Given the description of an element on the screen output the (x, y) to click on. 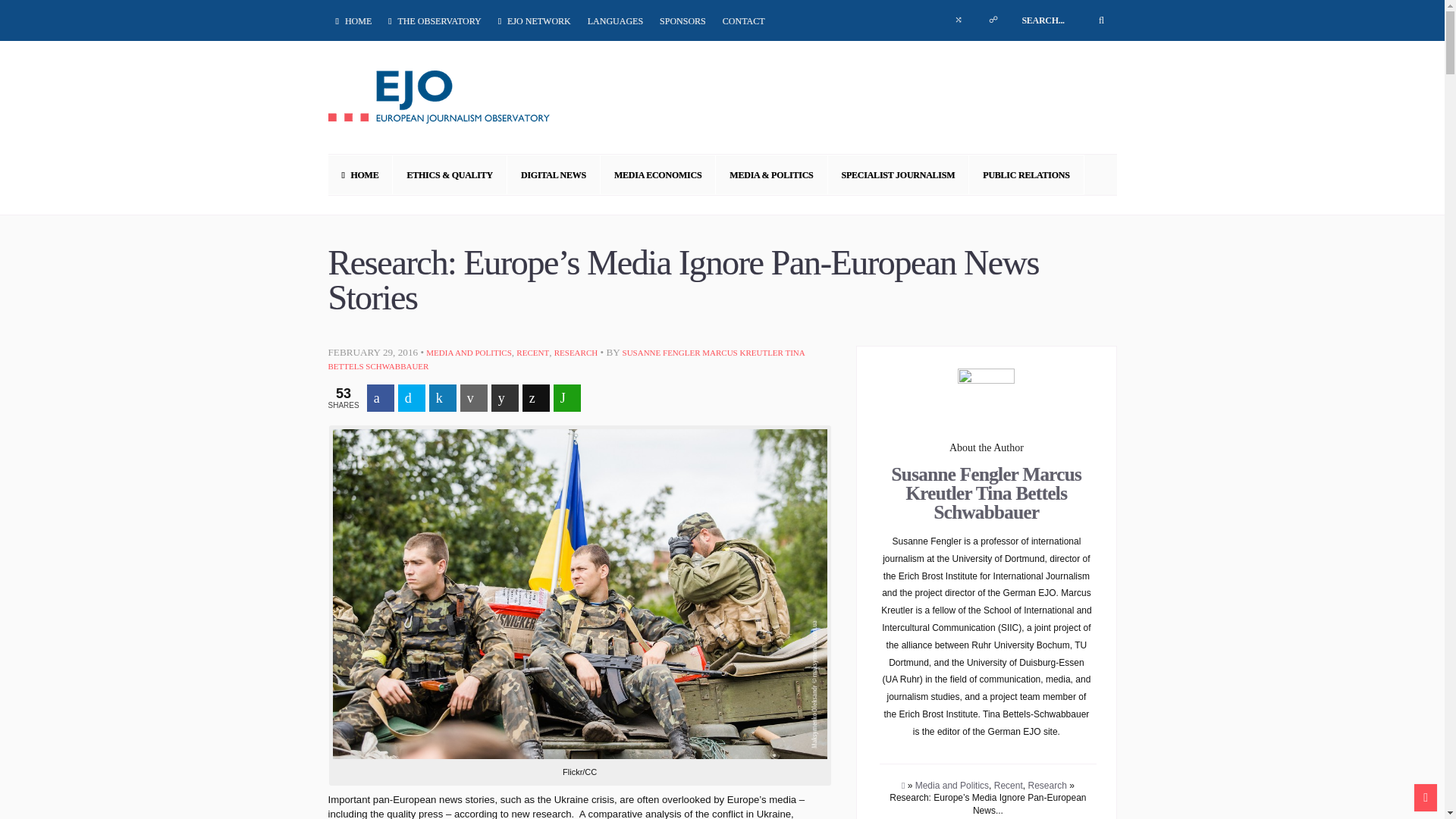
HOME (354, 20)
MEDIA ECONOMICS (657, 174)
Search... (1063, 20)
CONTACT (743, 20)
THE OBSERVATORY (434, 20)
EJO NETWORK (534, 20)
DIGITAL NEWS (552, 174)
HOME (360, 174)
SPONSORS (682, 20)
LANGUAGES (615, 20)
